Given the description of an element on the screen output the (x, y) to click on. 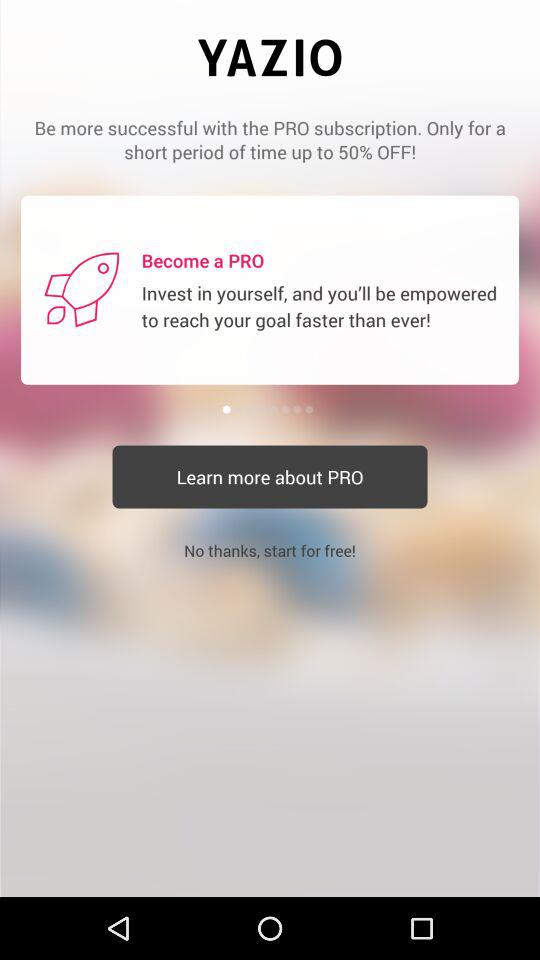
click the item above the no thanks start icon (269, 476)
